Given the description of an element on the screen output the (x, y) to click on. 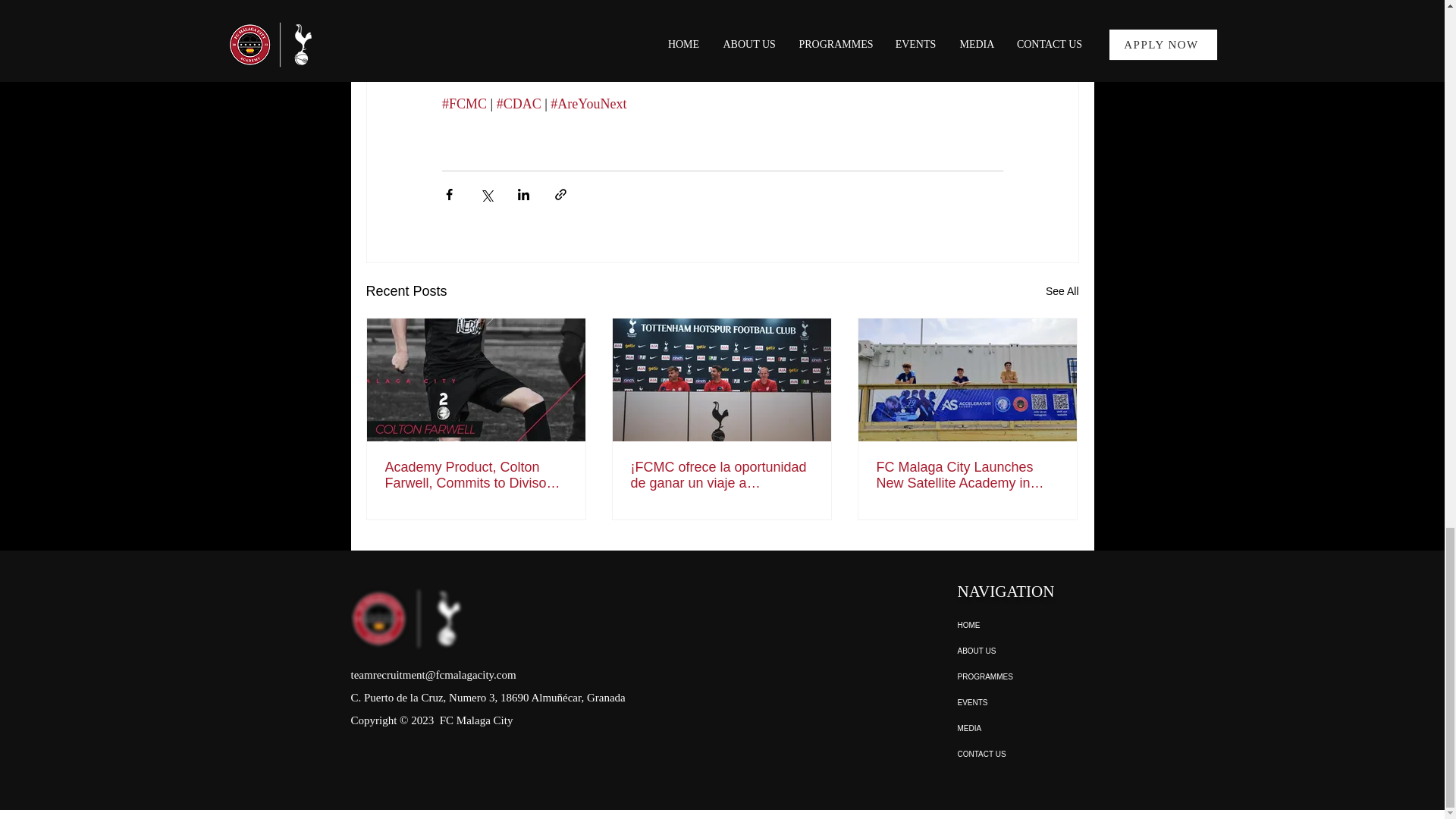
See All (1061, 291)
HOME (1010, 625)
